Given the description of an element on the screen output the (x, y) to click on. 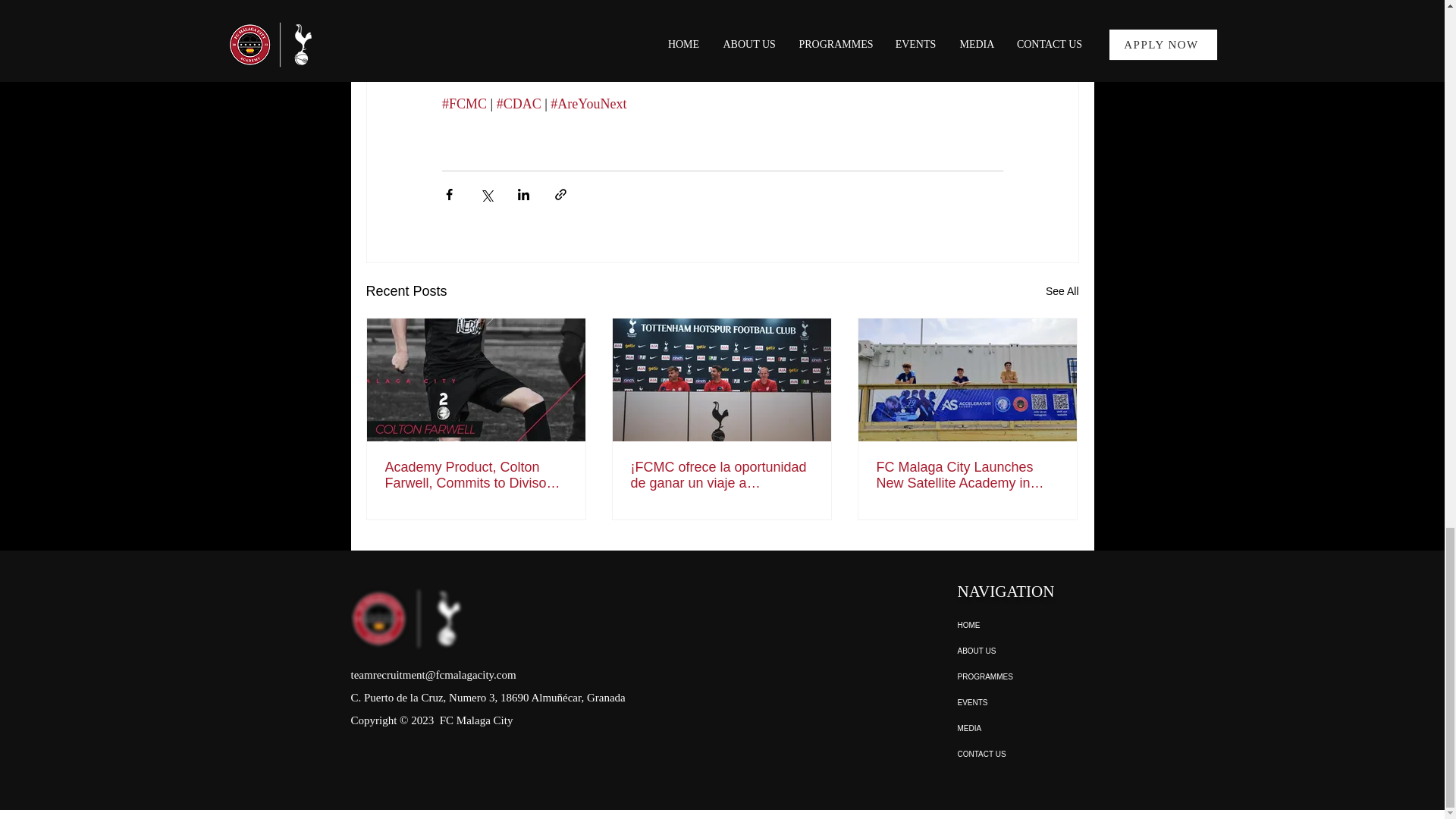
See All (1061, 291)
HOME (1010, 625)
